Given the description of an element on the screen output the (x, y) to click on. 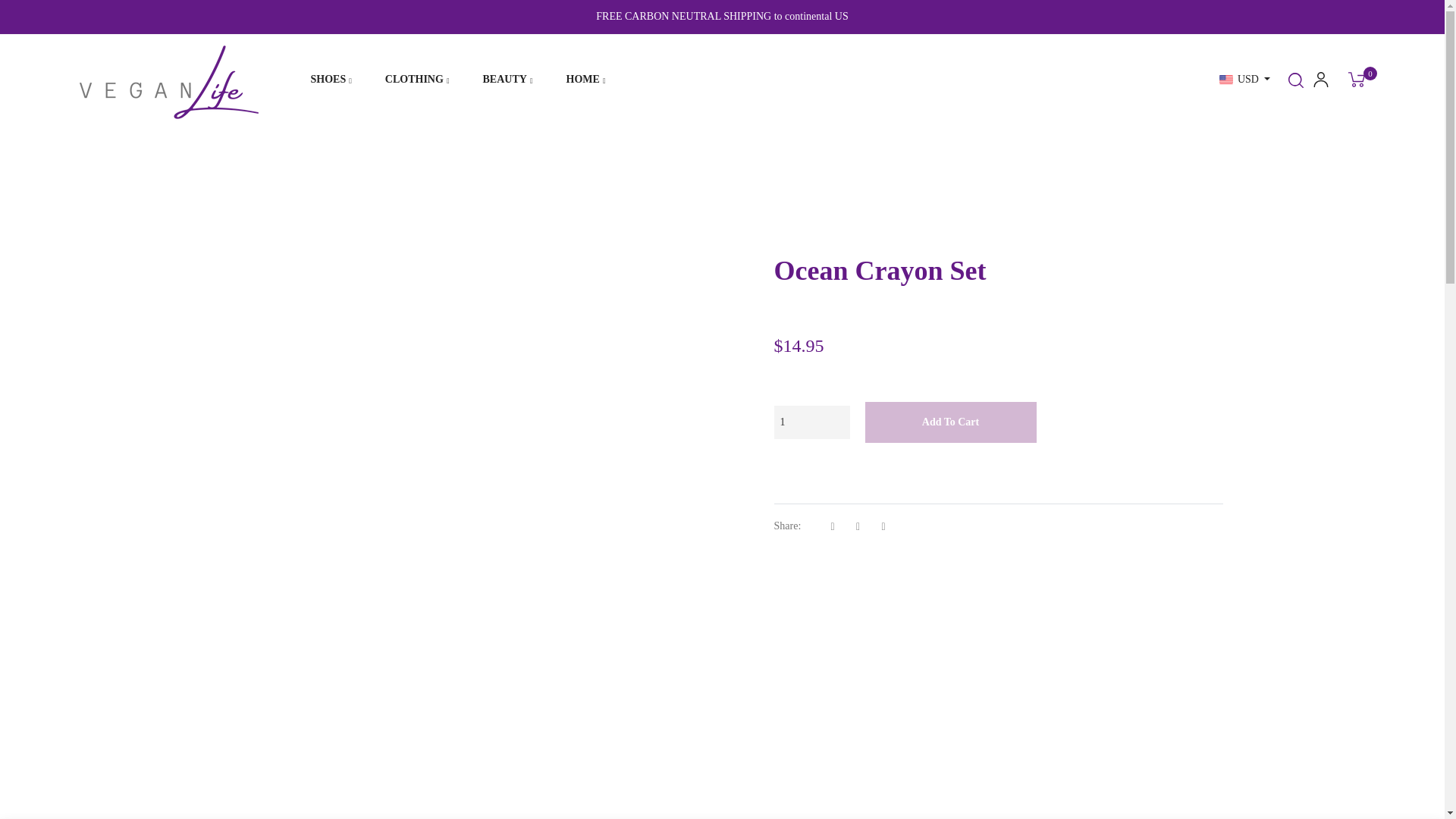
Pin on Pinterest (885, 526)
Share on Facebook (837, 526)
FREE CARBON NEUTRAL SHIPPING to continental US (721, 16)
Shopping Cart (1356, 79)
Currencies (1244, 79)
HOME (586, 79)
SHOES (331, 79)
BEAUTY (507, 79)
1 (810, 421)
CLOTHING (416, 79)
Tweet on Twitter (862, 526)
